Given the description of an element on the screen output the (x, y) to click on. 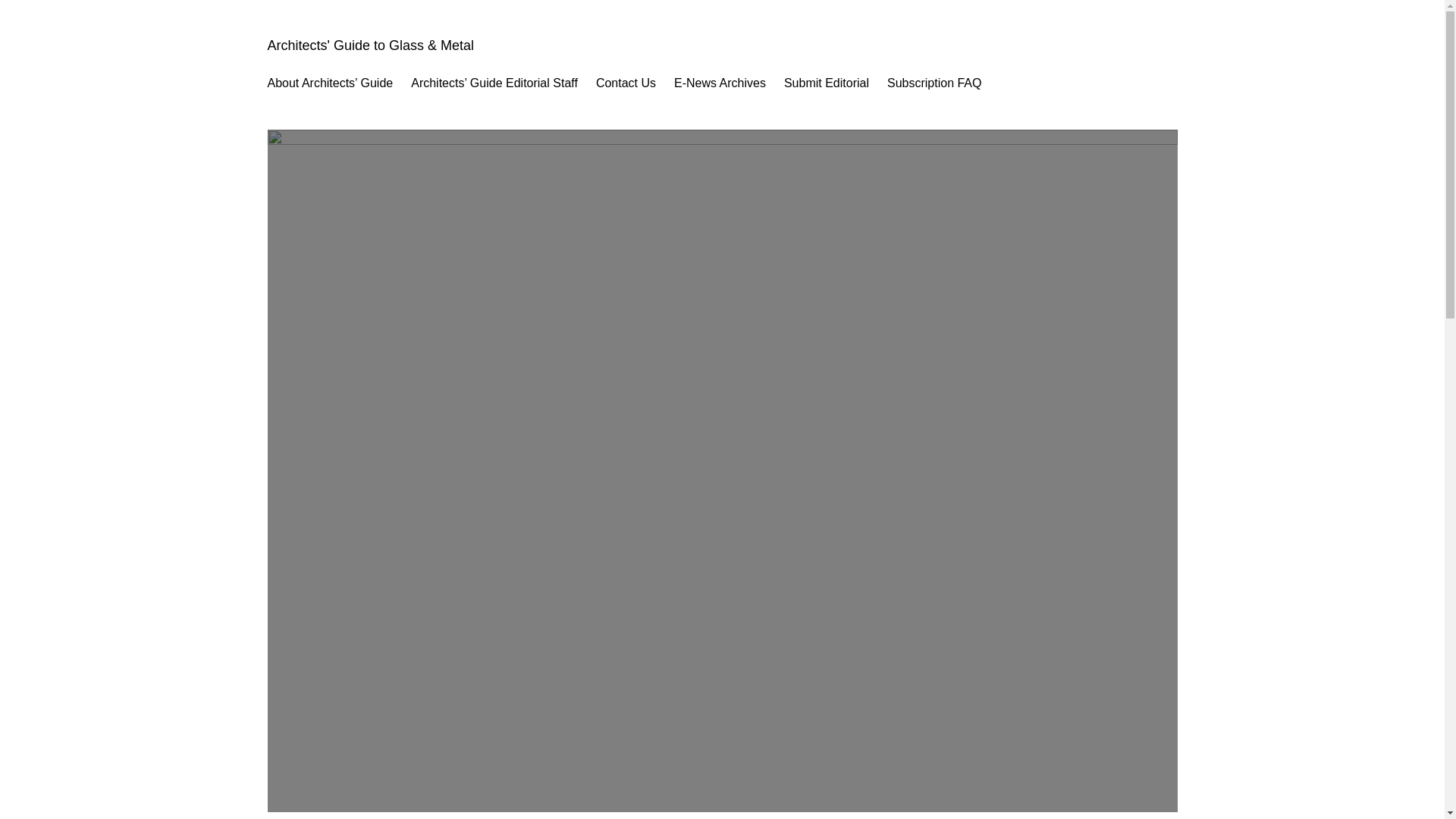
Contact Us (625, 83)
Submit Editorial (826, 83)
Subscription FAQ (933, 83)
E-News Archives (719, 83)
